Given the description of an element on the screen output the (x, y) to click on. 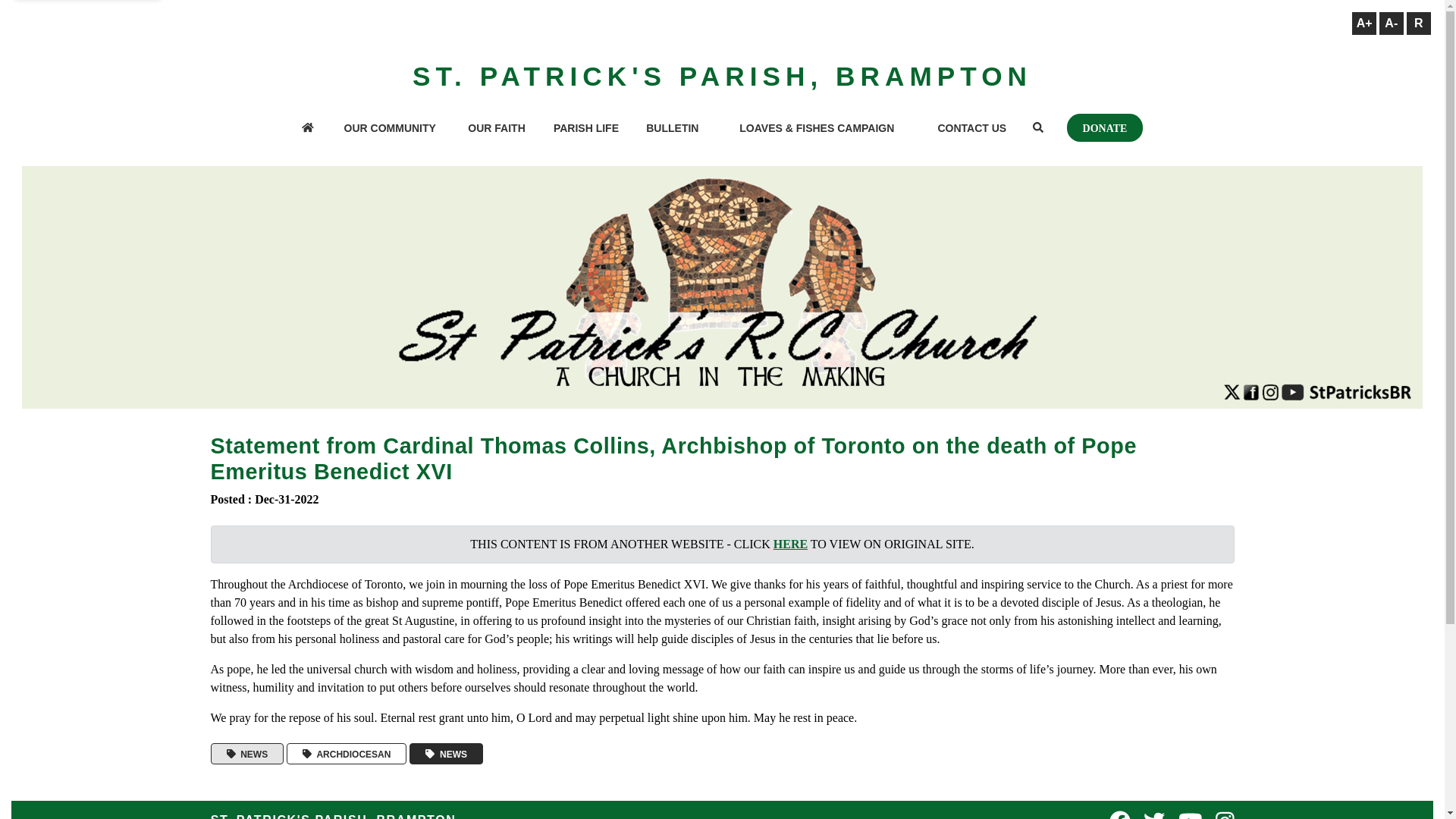
News (247, 753)
Visit us on Facebook (1120, 814)
Increase font (1363, 23)
News (446, 753)
Decrease font (1390, 23)
A- (1390, 23)
OUR COMMUNITY (389, 128)
OUR FAITH (496, 128)
Visit us on Instagram (1224, 814)
Home (306, 128)
